Given the description of an element on the screen output the (x, y) to click on. 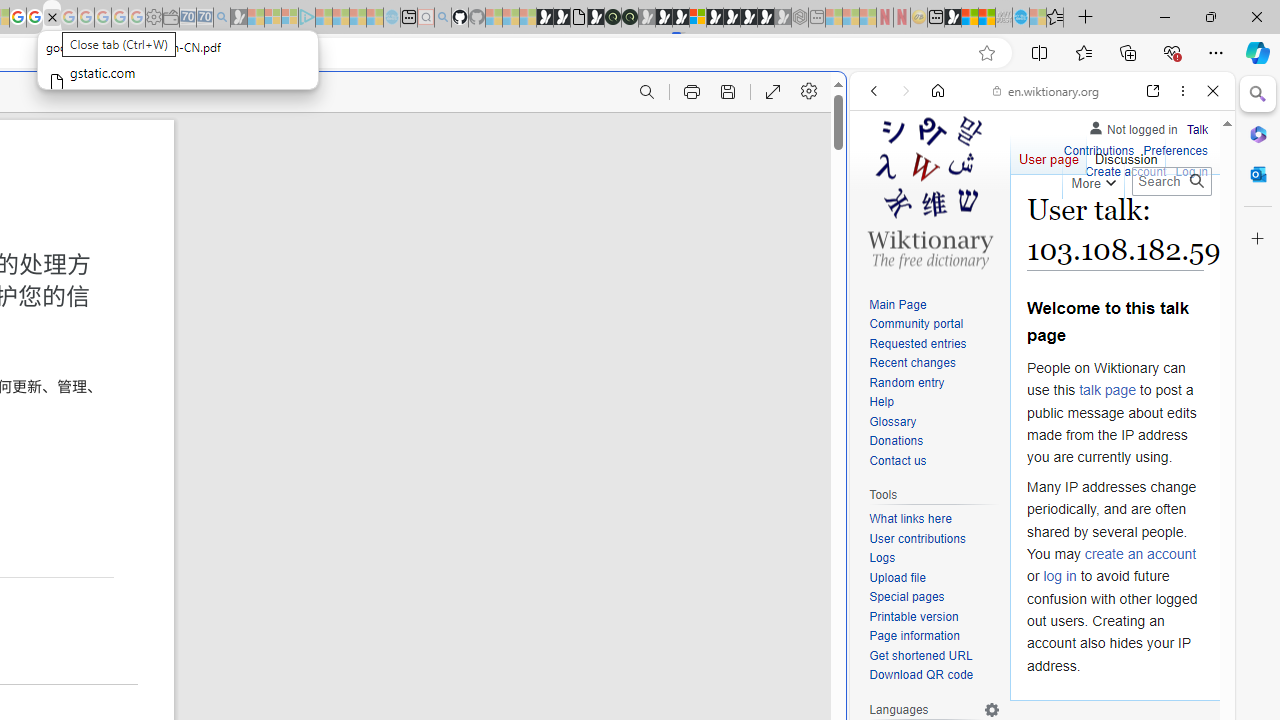
Search the web (1051, 137)
Play Free Online Games | Games from Microsoft Start (731, 17)
Visit the main page (929, 190)
Log in (1191, 169)
More (1092, 179)
Talk (1197, 129)
Microsoft Start Gaming - Sleeping (238, 17)
Get shortened URL (934, 655)
Log in (1191, 172)
